Given the description of an element on the screen output the (x, y) to click on. 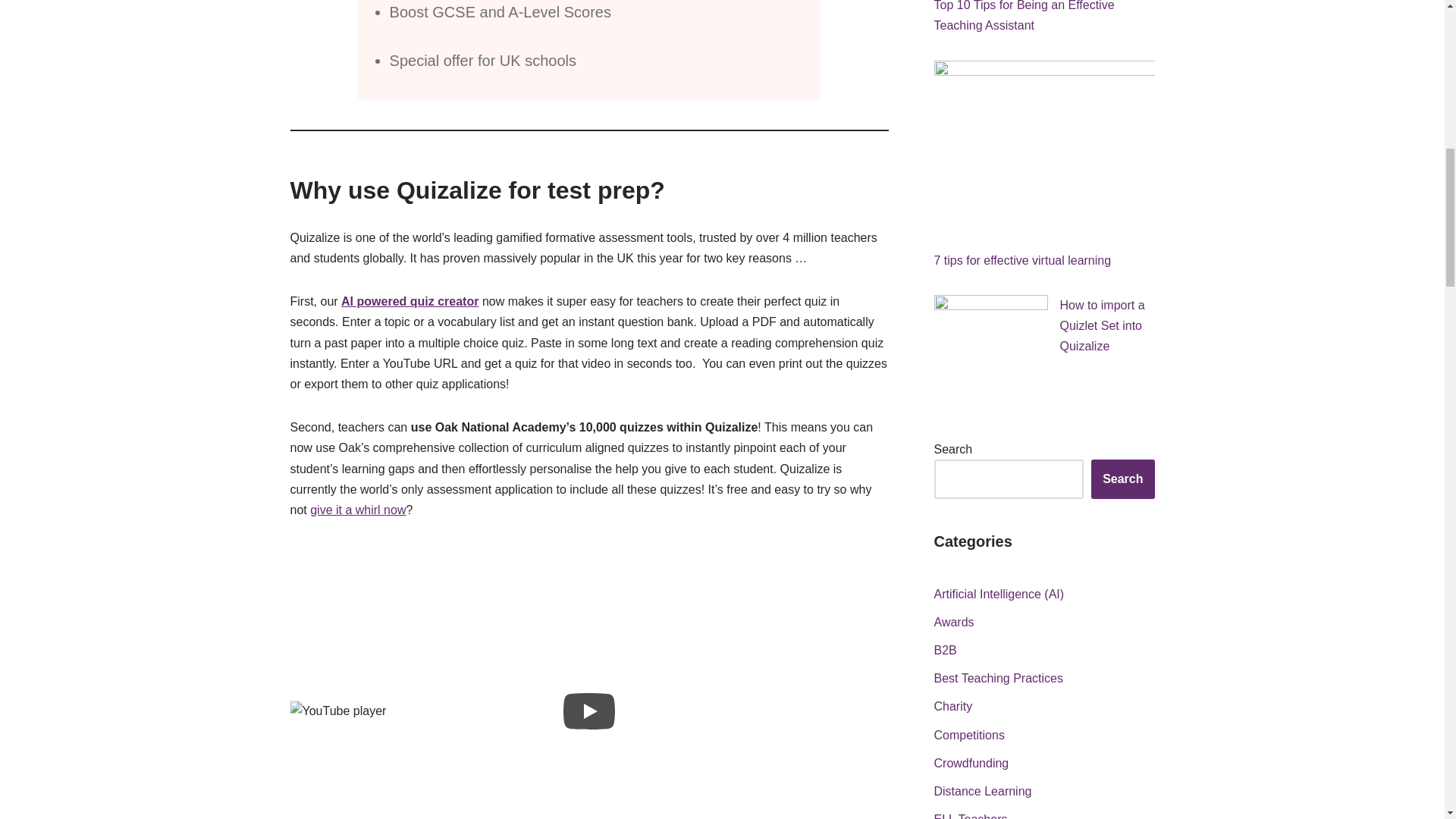
AI powered quiz creator (409, 300)
give it a whirl now (358, 509)
Special offer for UK schools (483, 60)
Boost GCSE and A-Level Scores (500, 12)
